Given the description of an element on the screen output the (x, y) to click on. 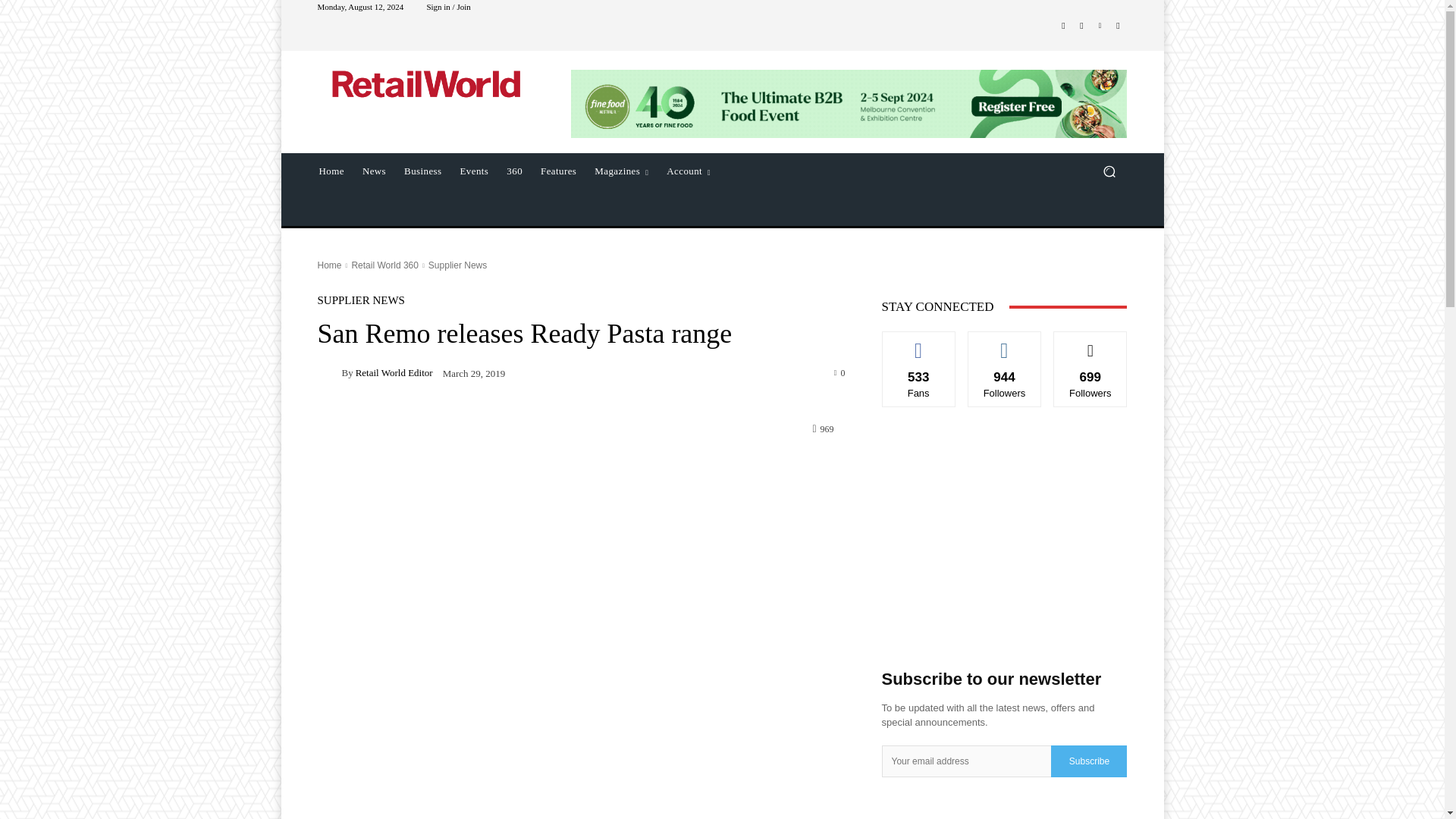
Features (558, 171)
Facebook (1062, 25)
Instagram (1080, 25)
Home (330, 171)
Business (421, 171)
View all posts in Retail World 360 (384, 265)
News (373, 171)
Retail World Editor (328, 373)
Home (328, 265)
Linkedin (1099, 25)
